Given the description of an element on the screen output the (x, y) to click on. 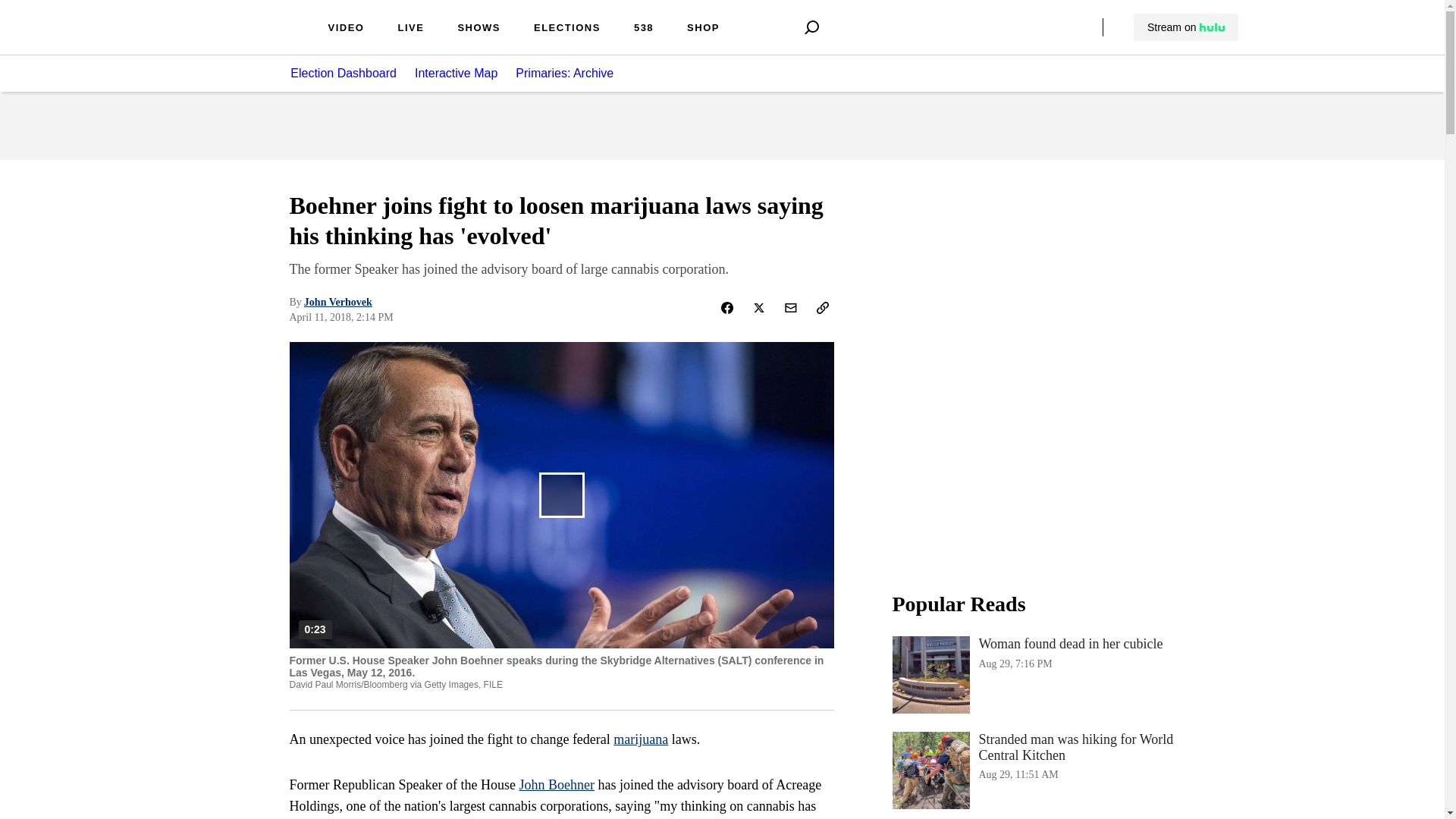
ELECTIONS (566, 28)
LIVE (410, 28)
John Verhovek (338, 301)
538 (643, 28)
Stream on (1186, 26)
Election Dashboard (342, 73)
Interactive Map (455, 73)
ABC News (250, 38)
VIDEO (345, 28)
marijuana (640, 739)
